Given the description of an element on the screen output the (x, y) to click on. 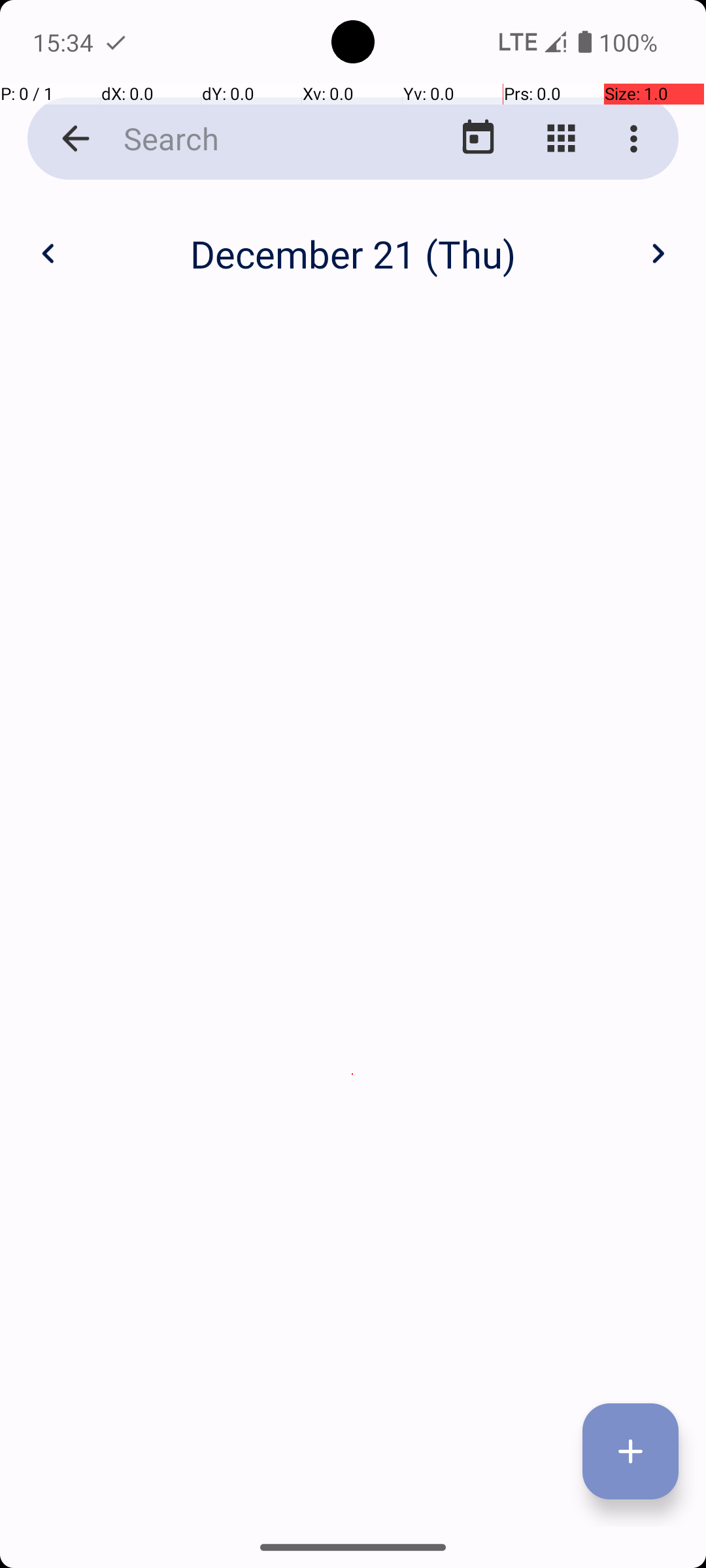
December Element type: android.widget.TextView (352, 239)
December 21 (Thu) Element type: android.widget.TextView (352, 253)
